Given the description of an element on the screen output the (x, y) to click on. 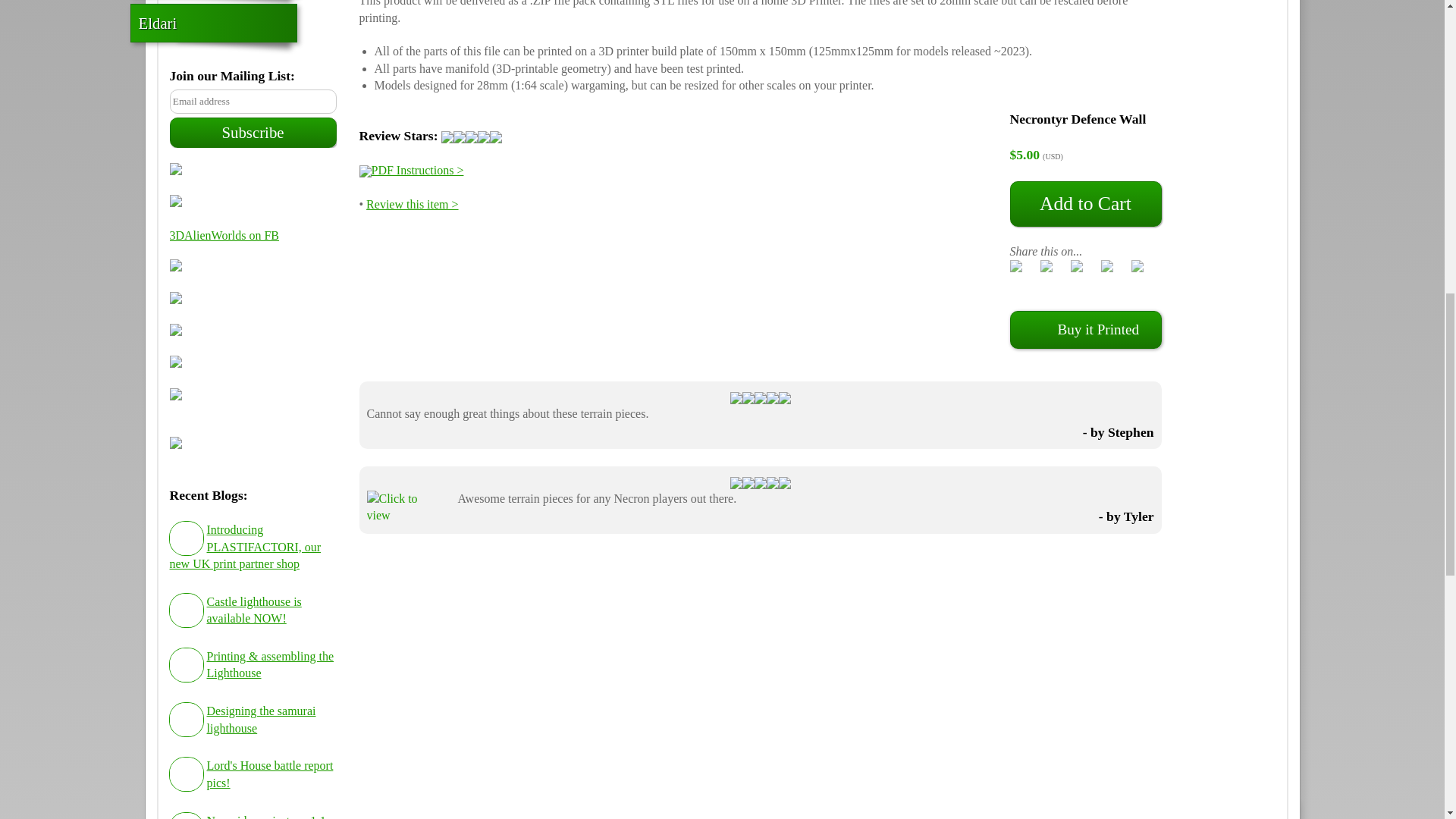
We also accept Paypal (253, 331)
Share this on Twitter (1055, 268)
Facebook (253, 170)
Share this by email (1146, 268)
Buy it Printed! (253, 202)
SSL Secure Transactions (253, 299)
Retailer Partners Wanted (253, 363)
Share this on Facebook (1025, 268)
Share this on Pinterest (1115, 268)
